Given the description of an element on the screen output the (x, y) to click on. 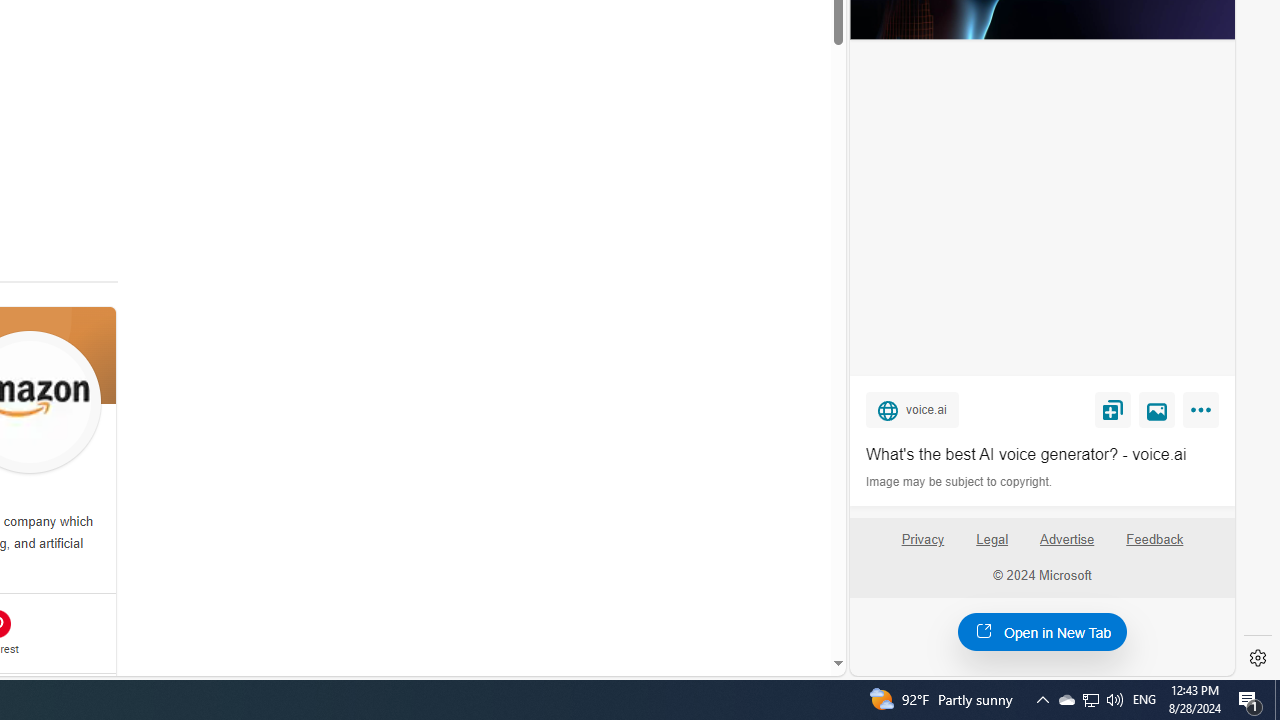
Legal (992, 547)
Advertise (1067, 547)
Privacy (922, 539)
Save (1112, 409)
More (1204, 413)
Image may be subject to copyright. (959, 481)
Settings (1258, 658)
Legal (991, 539)
AutomationID: mfa_root (762, 603)
voice.ai (912, 409)
Advertise (1066, 539)
Search more (792, 604)
